Given the description of an element on the screen output the (x, y) to click on. 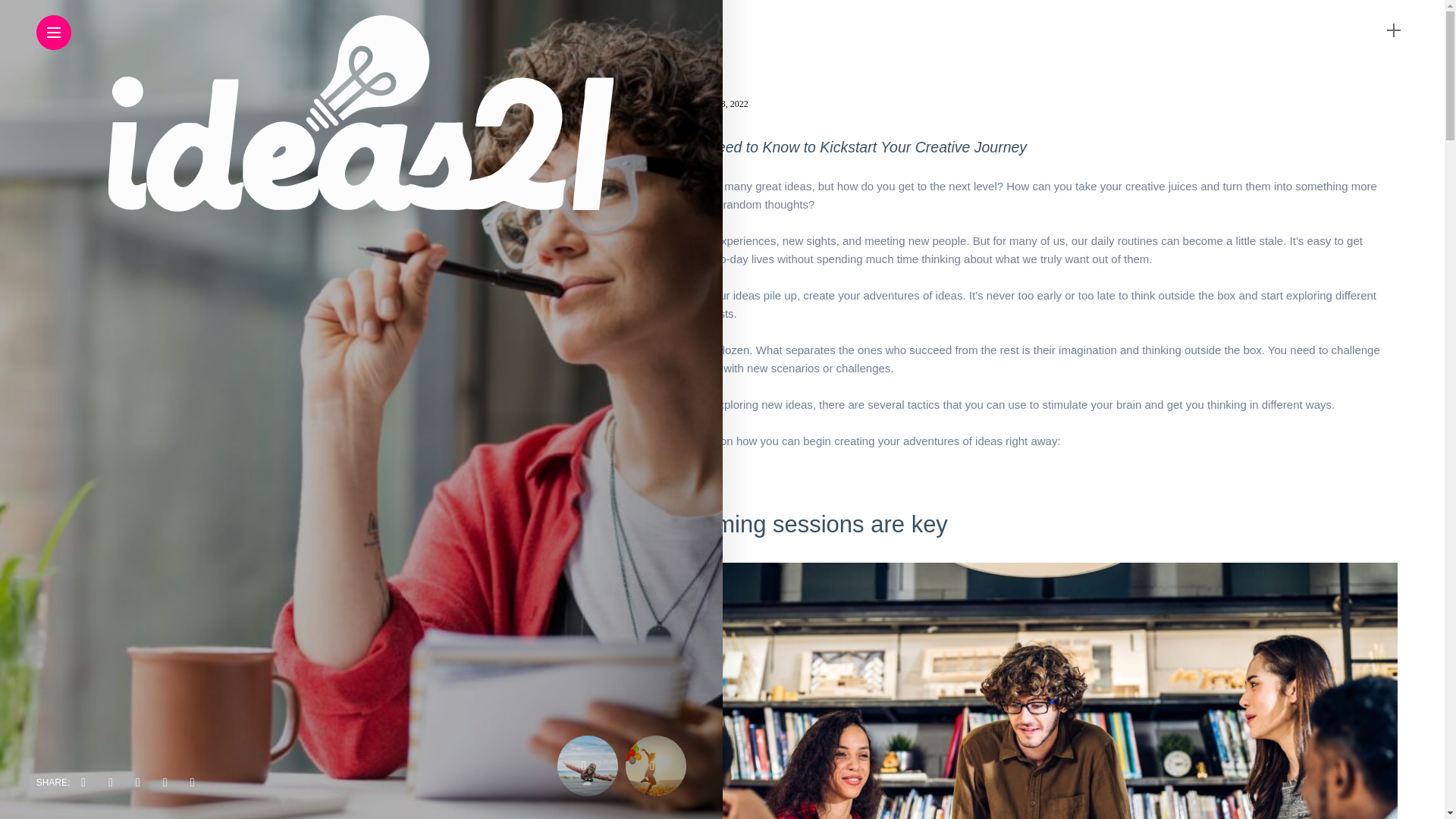
pinterest (165, 782)
facebook (83, 782)
Posts by John Ball (670, 103)
